Given the description of an element on the screen output the (x, y) to click on. 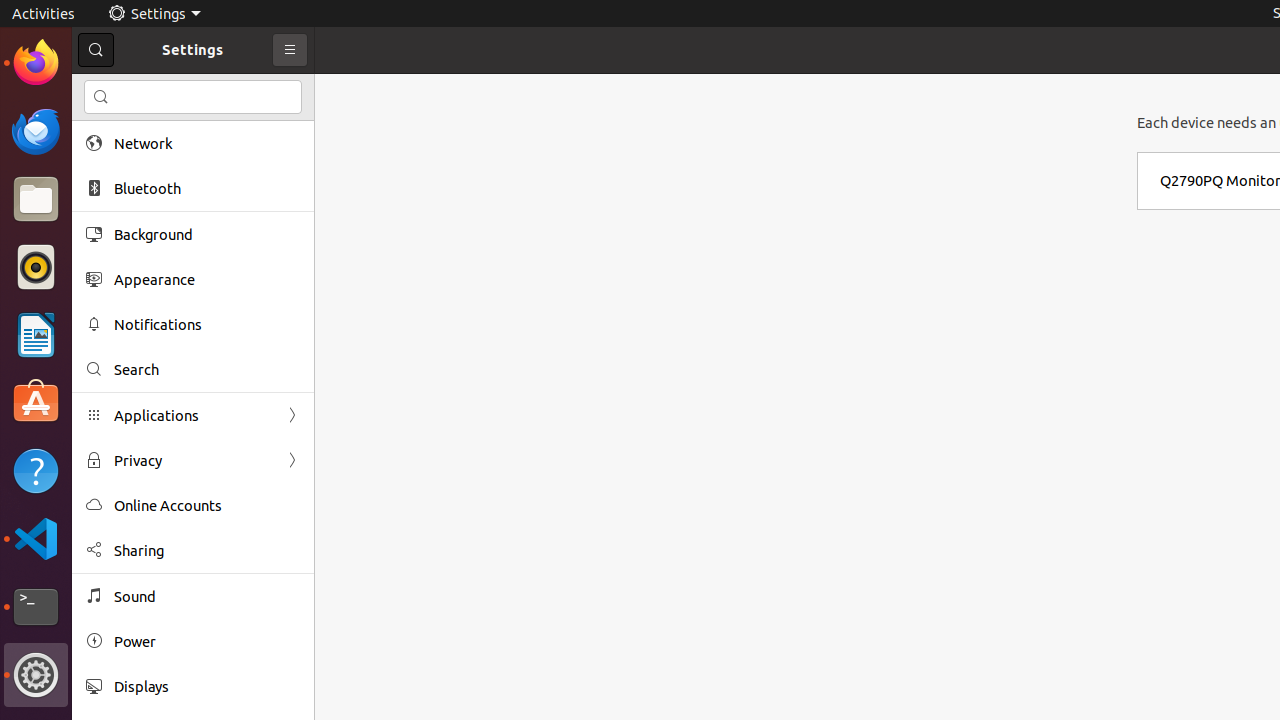
Power Element type: label (207, 641)
Online Accounts Element type: label (207, 505)
Privacy Element type: label (193, 460)
Settings Element type: menu (154, 13)
IsaHelpMain.desktop Element type: label (133, 300)
